Given the description of an element on the screen output the (x, y) to click on. 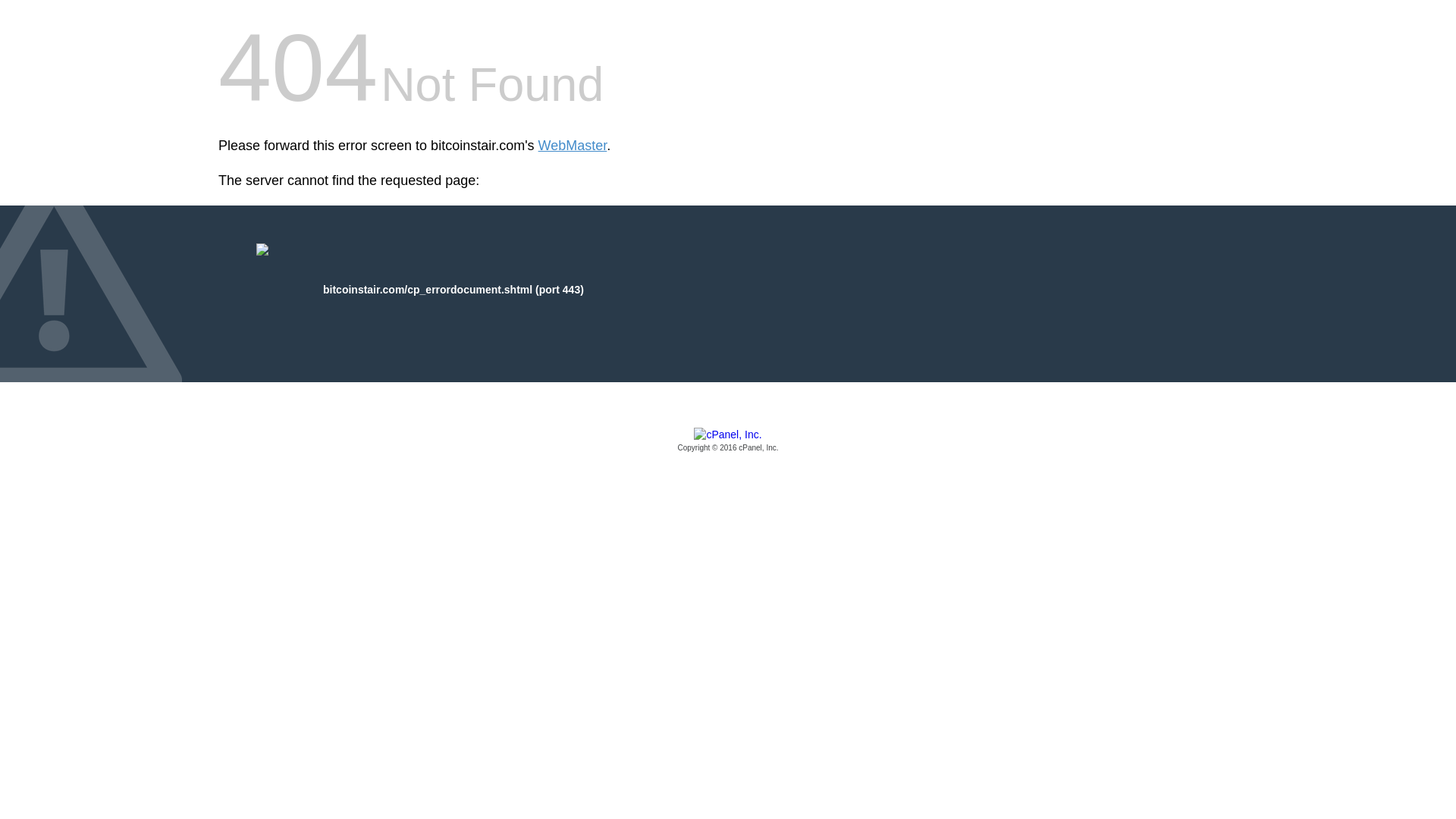
WebMaster (572, 145)
cPanel, Inc. (727, 440)
